Given the description of an element on the screen output the (x, y) to click on. 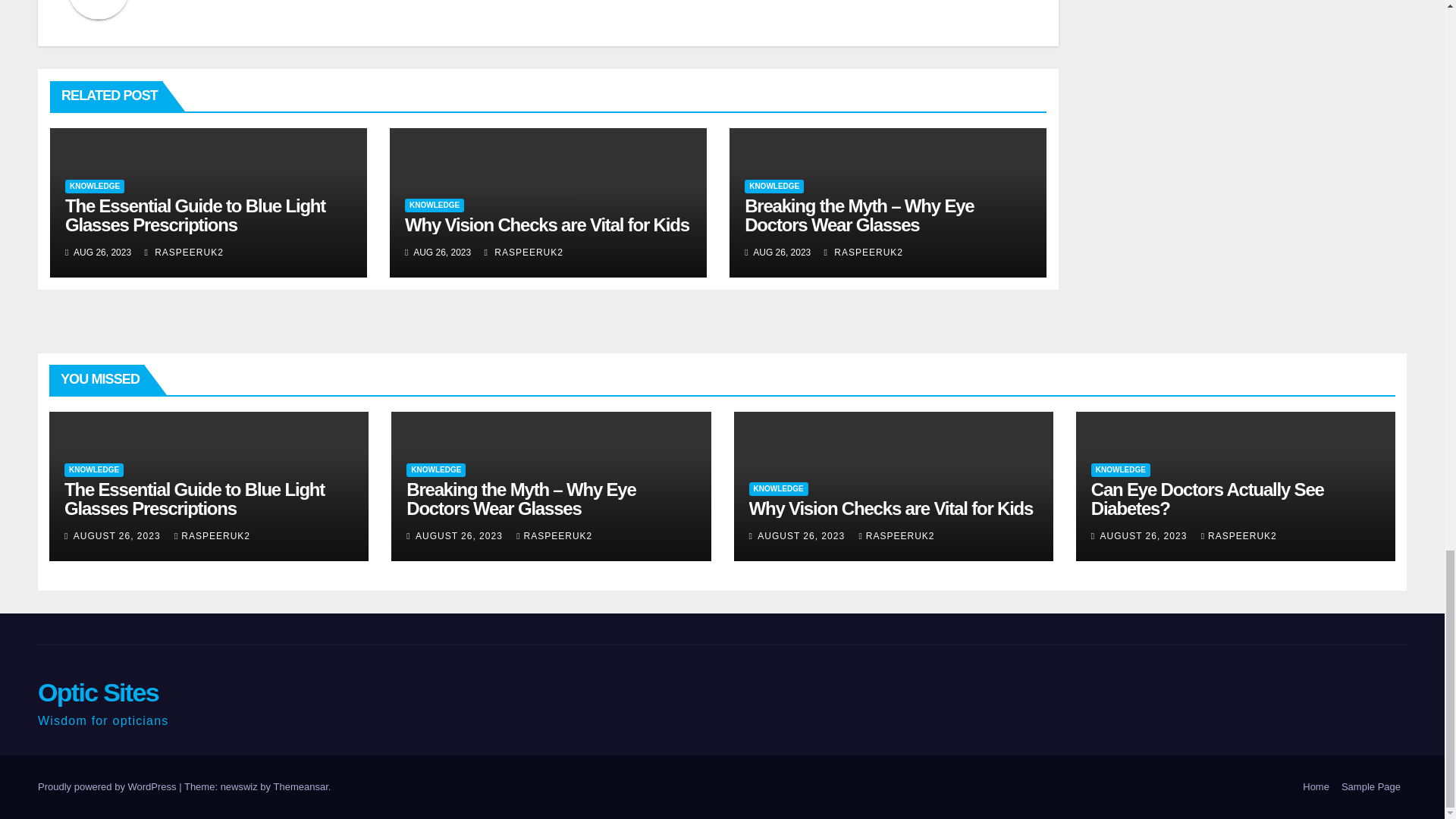
Permalink to: Can Eye Doctors Actually See Diabetes? (1206, 498)
RASPEERUK2 (863, 252)
Permalink to: Why Vision Checks are Vital for Kids (546, 224)
Permalink to: Why Vision Checks are Vital for Kids (891, 507)
RASPEERUK2 (523, 252)
Why Vision Checks are Vital for Kids (546, 224)
Home (1316, 786)
RASPEERUK2 (183, 252)
KNOWLEDGE (434, 205)
The Essential Guide to Blue Light Glasses Prescriptions (194, 215)
KNOWLEDGE (94, 186)
KNOWLEDGE (773, 186)
